Given the description of an element on the screen output the (x, y) to click on. 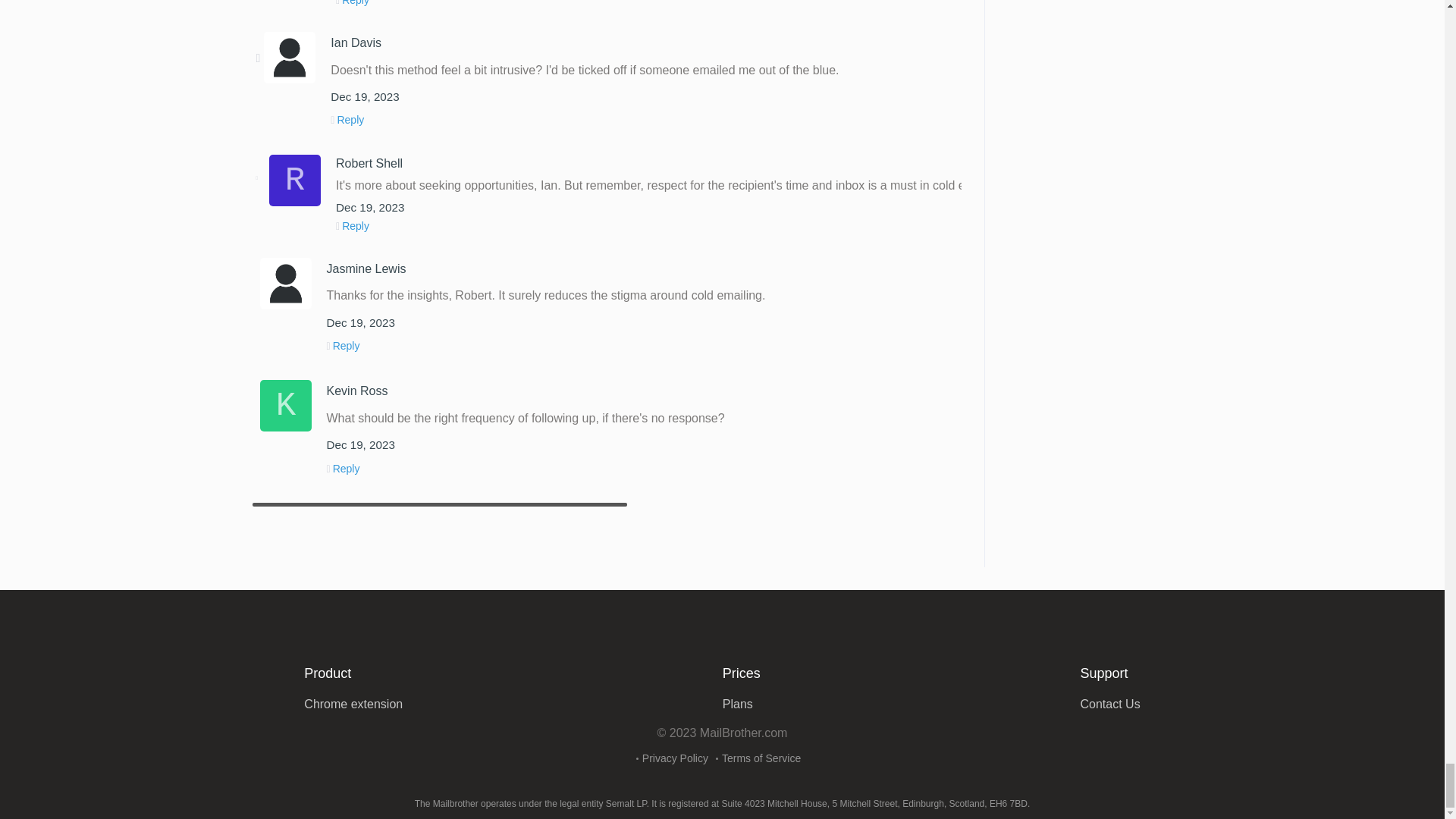
Privacy Policy (674, 758)
Plans (737, 703)
Chrome extension (353, 703)
Contact Us (1110, 703)
Terms of Service (761, 758)
